Given the description of an element on the screen output the (x, y) to click on. 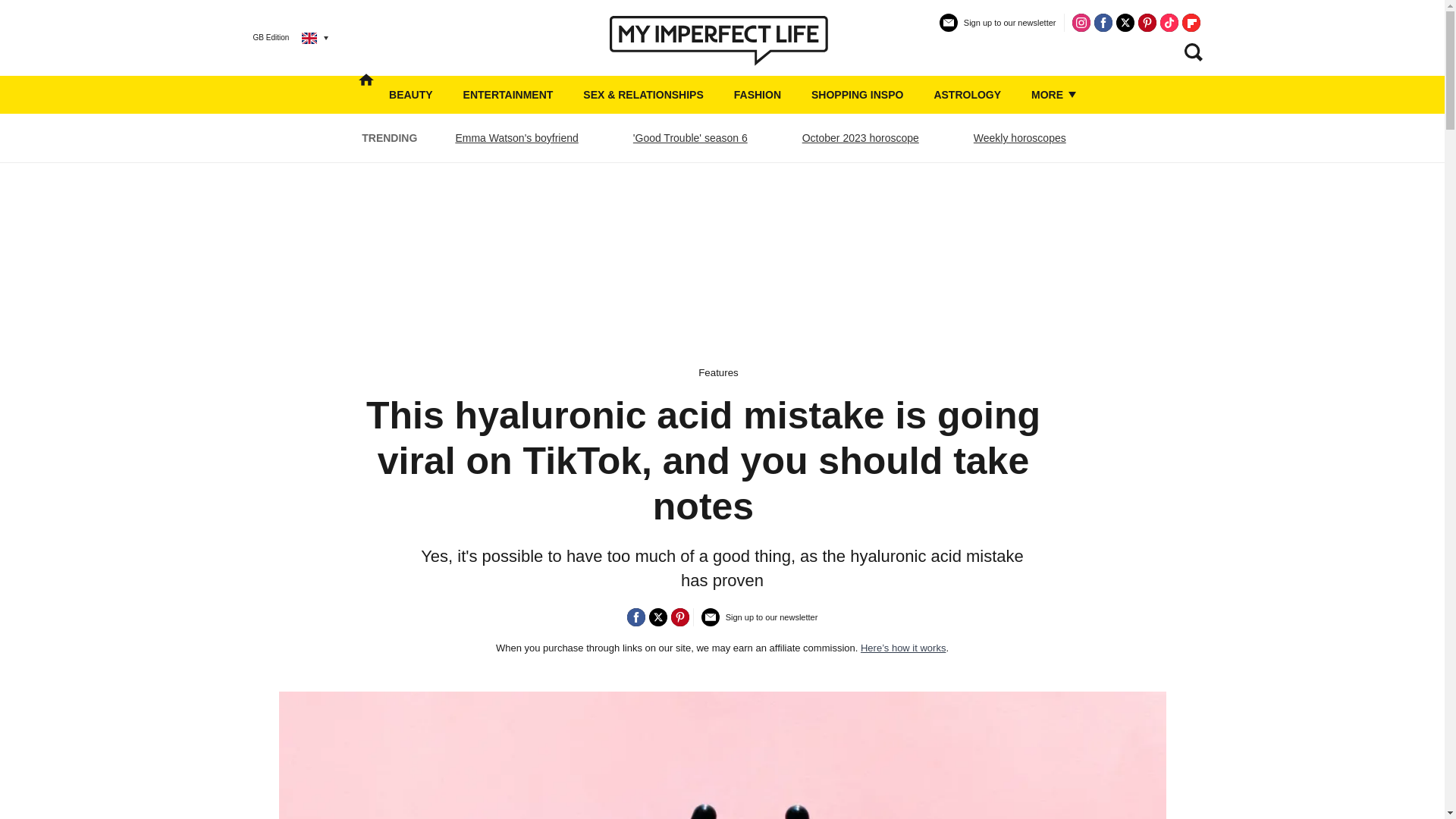
ENTERTAINMENT (508, 94)
ASTROLOGY (967, 94)
FASHION (756, 94)
Features (718, 372)
'Good Trouble' season 6 (689, 137)
Weekly horoscopes (1019, 137)
Sign up to our newsletter (998, 28)
October 2023 horoscope (860, 137)
GB Edition (279, 37)
SHOPPING INSPO (856, 94)
